Given the description of an element on the screen output the (x, y) to click on. 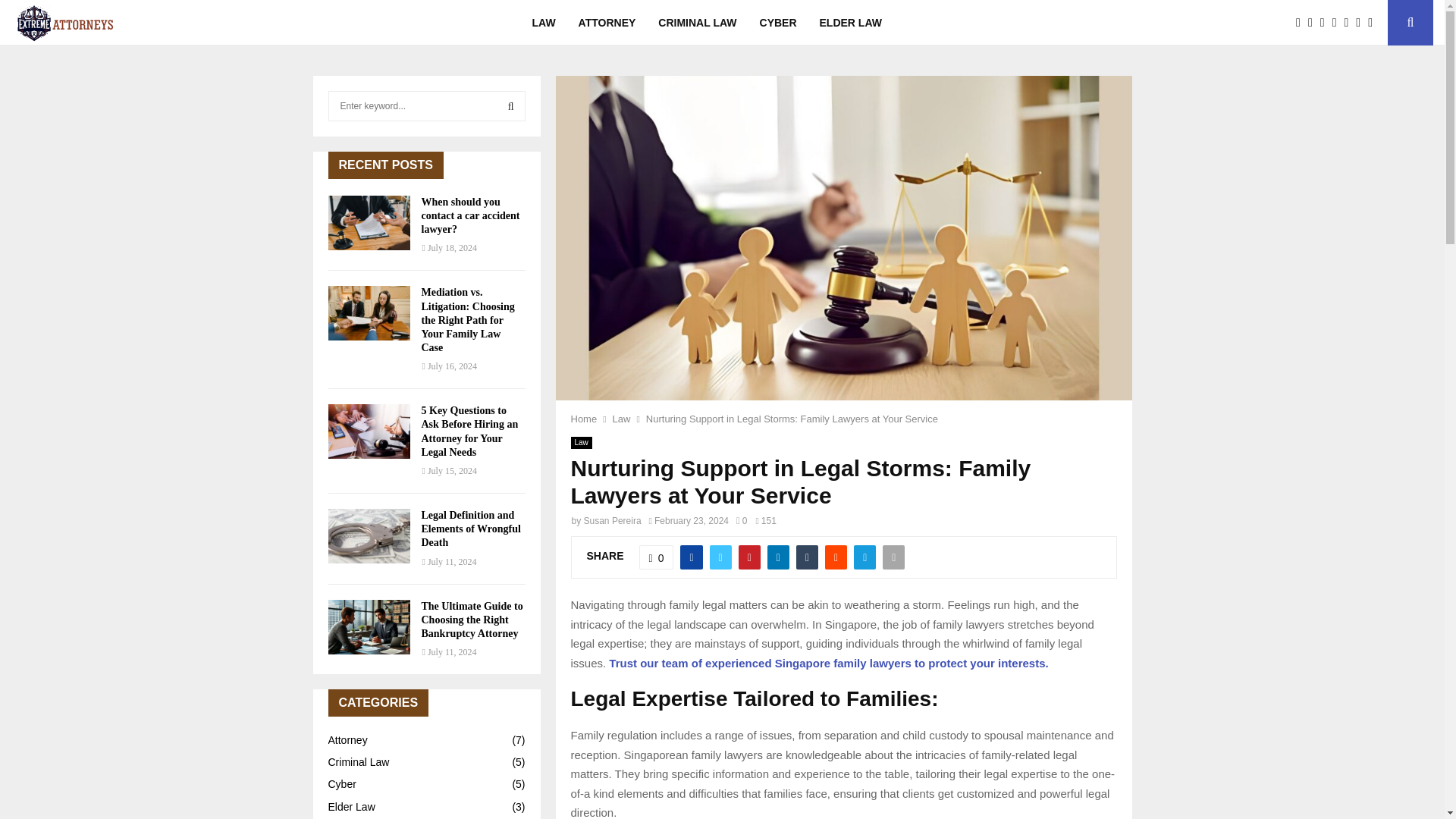
Like (656, 556)
Law (621, 418)
Home (583, 418)
0 (741, 520)
Law (580, 442)
Susan Pereira (612, 520)
0 (656, 556)
ATTORNEY (607, 22)
ELDER LAW (850, 22)
CRIMINAL LAW (697, 22)
